Given the description of an element on the screen output the (x, y) to click on. 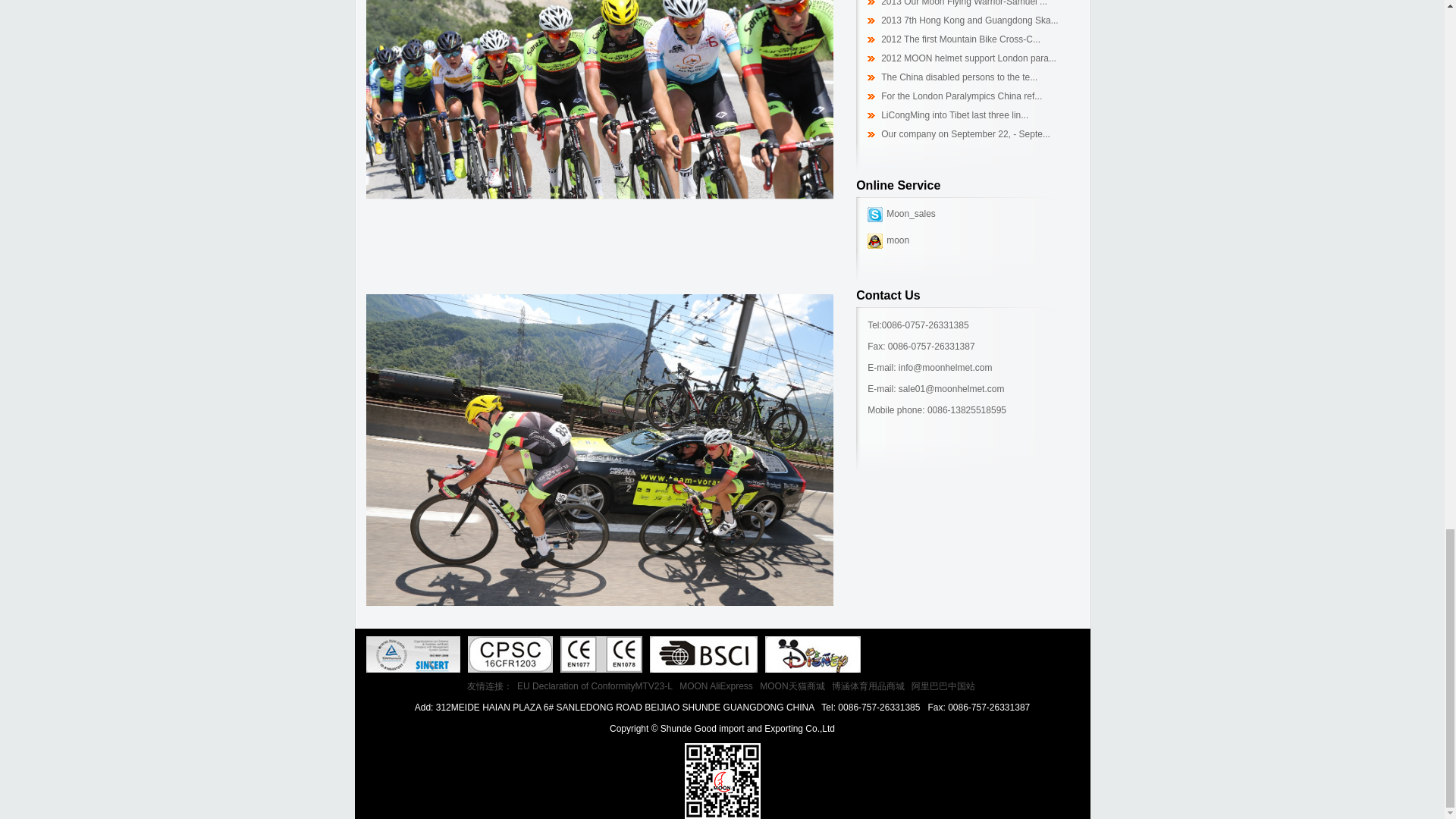
link7 (600, 653)
link2 (412, 653)
link4 (509, 653)
link6 (812, 653)
1534734577361208.jpg (598, 143)
link5 (703, 653)
